Given the description of an element on the screen output the (x, y) to click on. 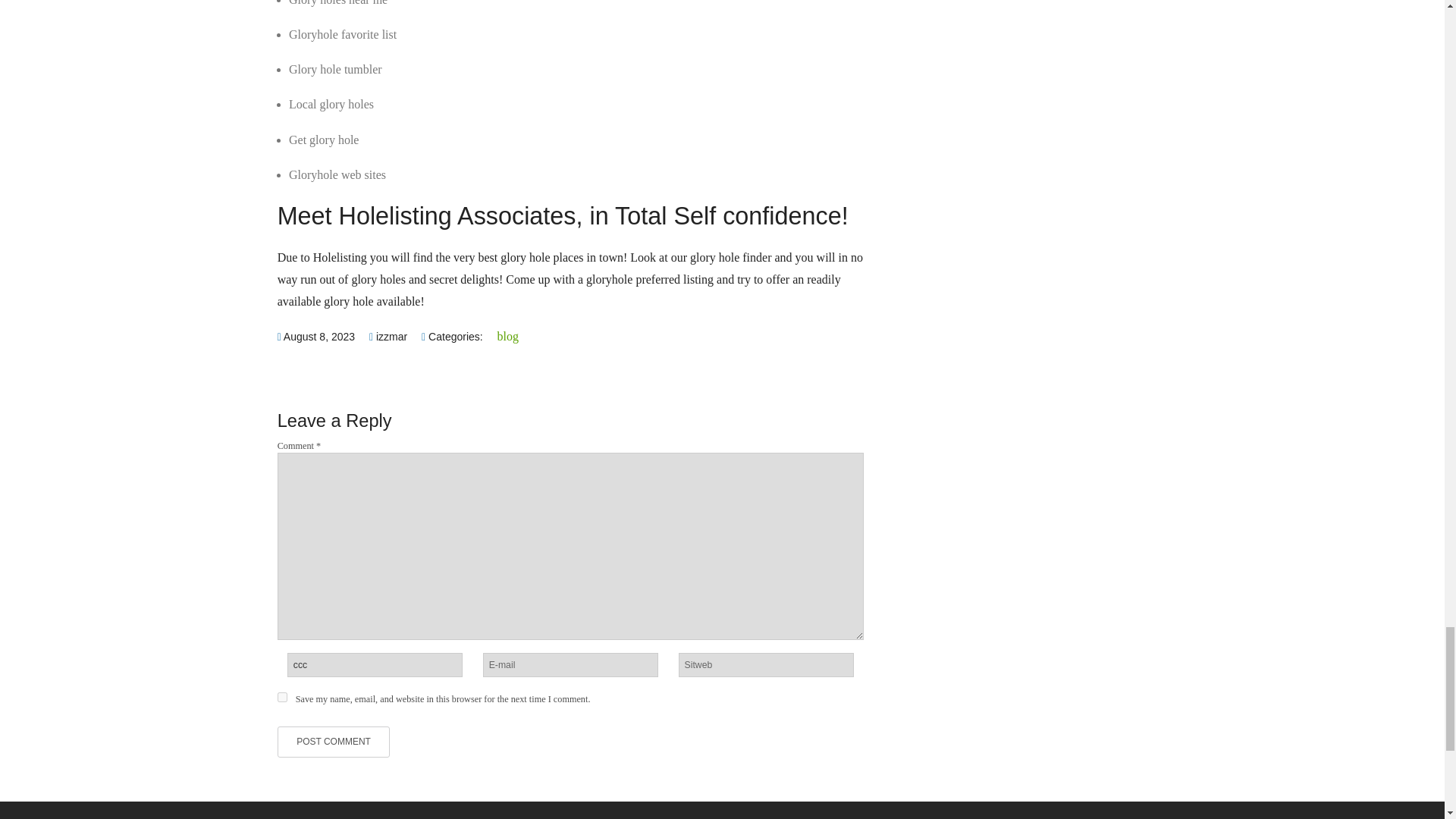
Post Comment (334, 741)
Post Comment (334, 741)
blog (507, 336)
ccc (374, 664)
yes (282, 696)
